Given the description of an element on the screen output the (x, y) to click on. 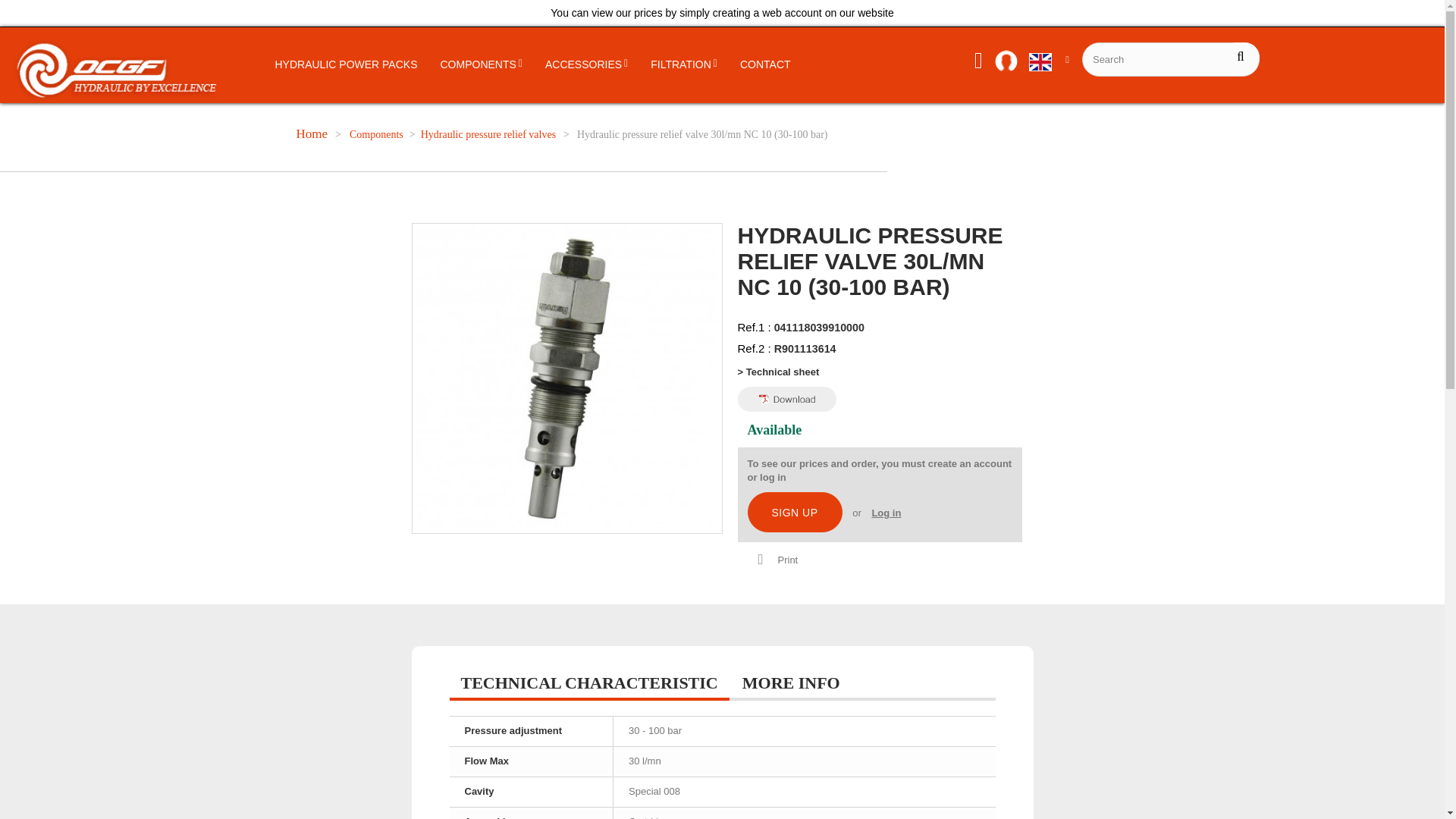
Return to Home (313, 134)
COMPONENTS (481, 65)
HYDRAULIC POWER PACKS (346, 65)
Hydraulic pressure relief valves (488, 135)
OCGF (120, 71)
Components (376, 135)
Log in to your customer account (1009, 63)
